Given the description of an element on the screen output the (x, y) to click on. 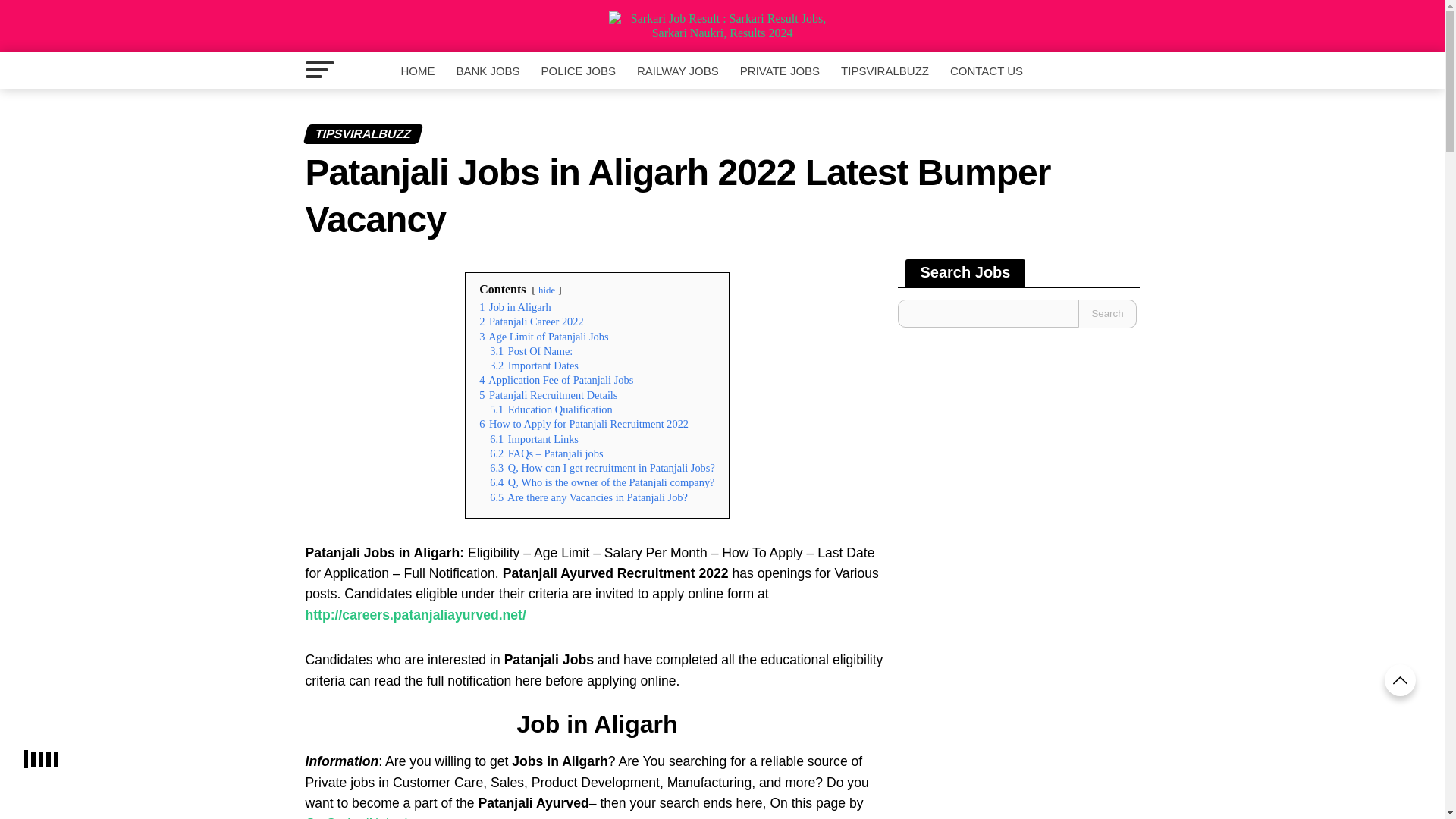
1 Job in Aligarh (514, 306)
PRIVATE JOBS (779, 70)
Search (1107, 313)
RAILWAY JOBS (677, 70)
6.5 Are there any Vacancies in Patanjali Job? (588, 497)
3.2 Important Dates (533, 365)
TIPSVIRALBUZZ (884, 70)
6.3 Q, How can I get recruitment in Patanjali Jobs? (601, 467)
3.1 Post Of Name: (530, 350)
2 Patanjali Career 2022 (531, 321)
3 Age Limit of Patanjali Jobs (543, 336)
6.1 Important Links (533, 439)
6 How to Apply for Patanjali Recruitment 2022 (583, 423)
4 Application Fee of Patanjali Jobs (556, 379)
POLICE JOBS (578, 70)
